Given the description of an element on the screen output the (x, y) to click on. 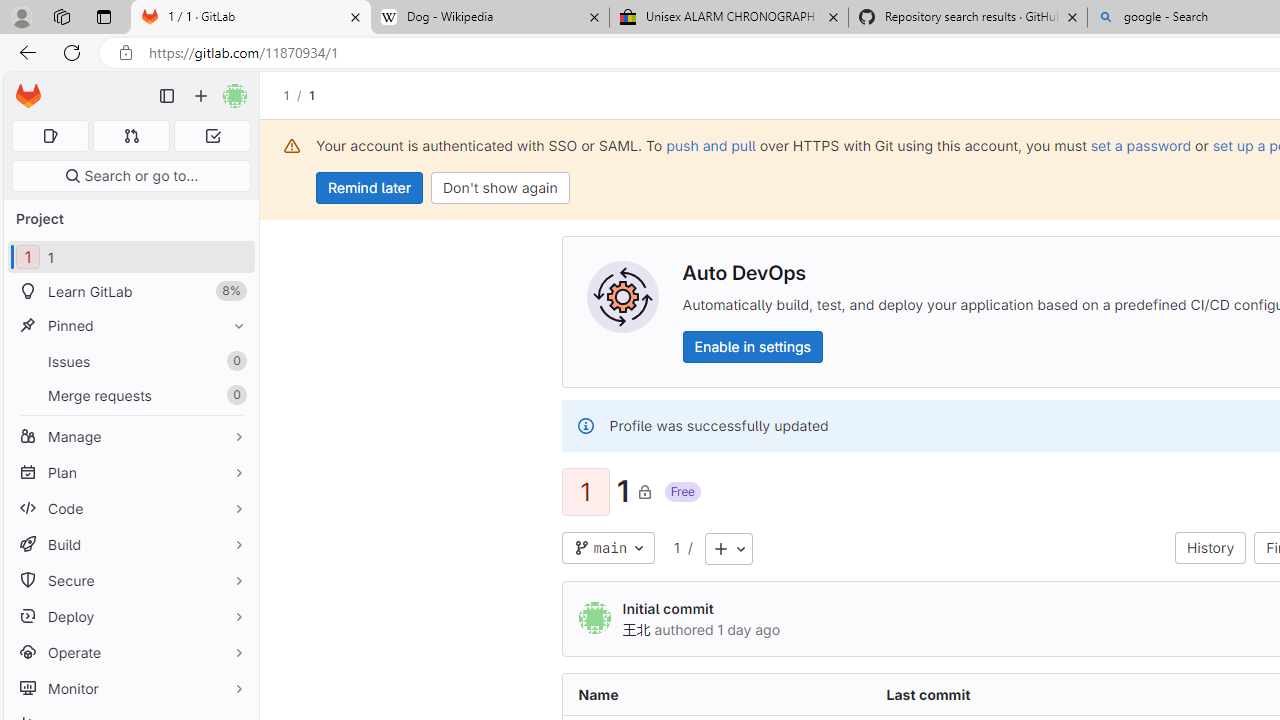
Remind later (369, 187)
Merge requests 0 (131, 136)
Learn GitLab8% (130, 291)
Manage (130, 435)
Last commit (1024, 694)
Merge requests0 (130, 394)
Personal Profile (21, 16)
set a password (1140, 145)
main (607, 547)
Secure (130, 579)
1 (676, 548)
Code (130, 507)
Homepage (27, 96)
